Given the description of an element on the screen output the (x, y) to click on. 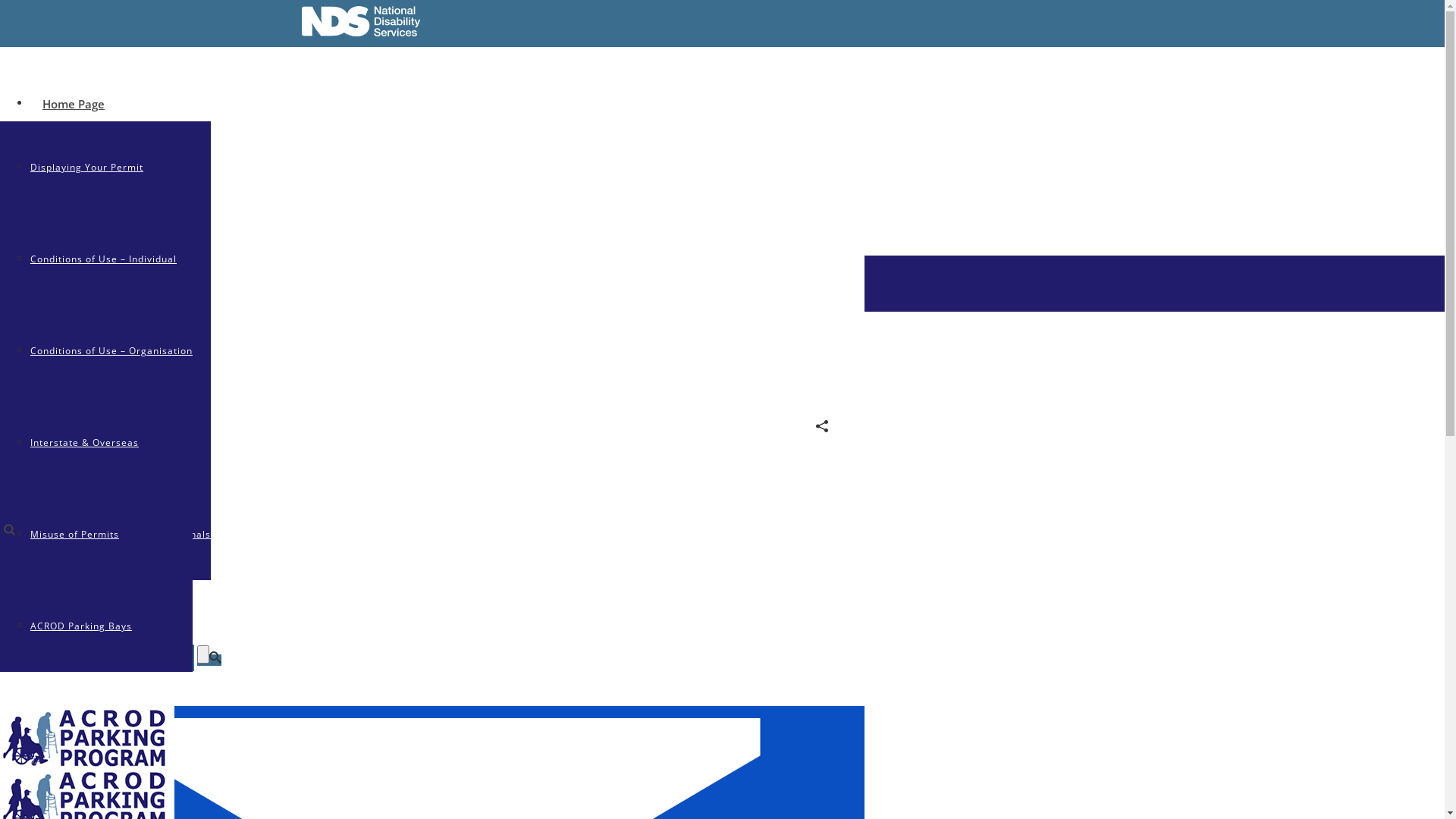
Home Page Element type: text (73, 103)
Using Your Permit Element type: text (91, 285)
Apply Element type: text (57, 194)
Displaying Your Permit Element type: text (86, 166)
Information for Health Professionals Element type: text (120, 533)
29 June 2021 Element type: text (72, 392)
0 Element type: text (853, 428)
acrod-application-form-for-legally-blind Element type: text (112, 441)
Print Element type: hover (794, 427)
Renew, Extend, Replace, Cancel Element type: text (107, 442)
Home Element type: text (15, 302)
Contact Us Element type: text (72, 467)
Eligibility Element type: text (52, 166)
Misuse of Permits Element type: text (74, 533)
acrod-application-form-for-legally-blind Element type: text (144, 302)
ACROD Parking Bays Element type: text (80, 625)
Eugene Glazman Element type: text (42, 490)
Interstate & Overseas Element type: text (84, 442)
Eugene Glazman Element type: text (57, 374)
